Given the description of an element on the screen output the (x, y) to click on. 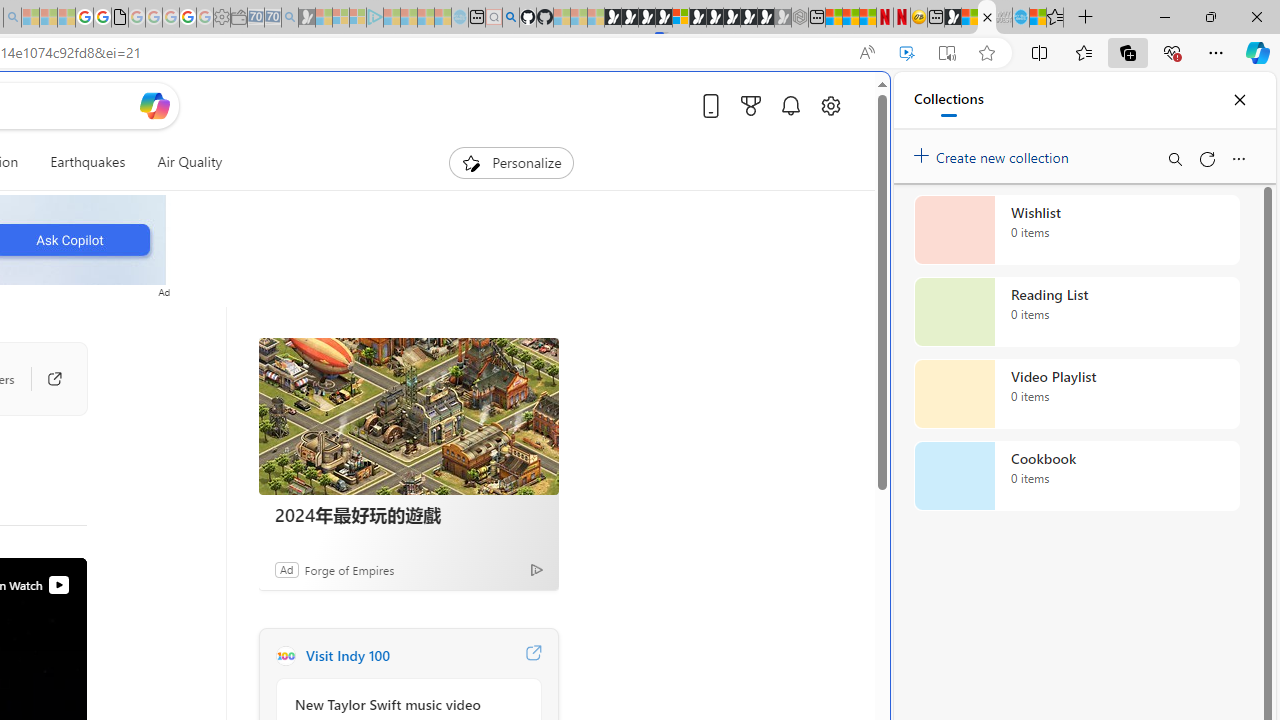
World - MSN (969, 17)
Tabs you've opened (276, 265)
More options menu (1238, 158)
